Given the description of an element on the screen output the (x, y) to click on. 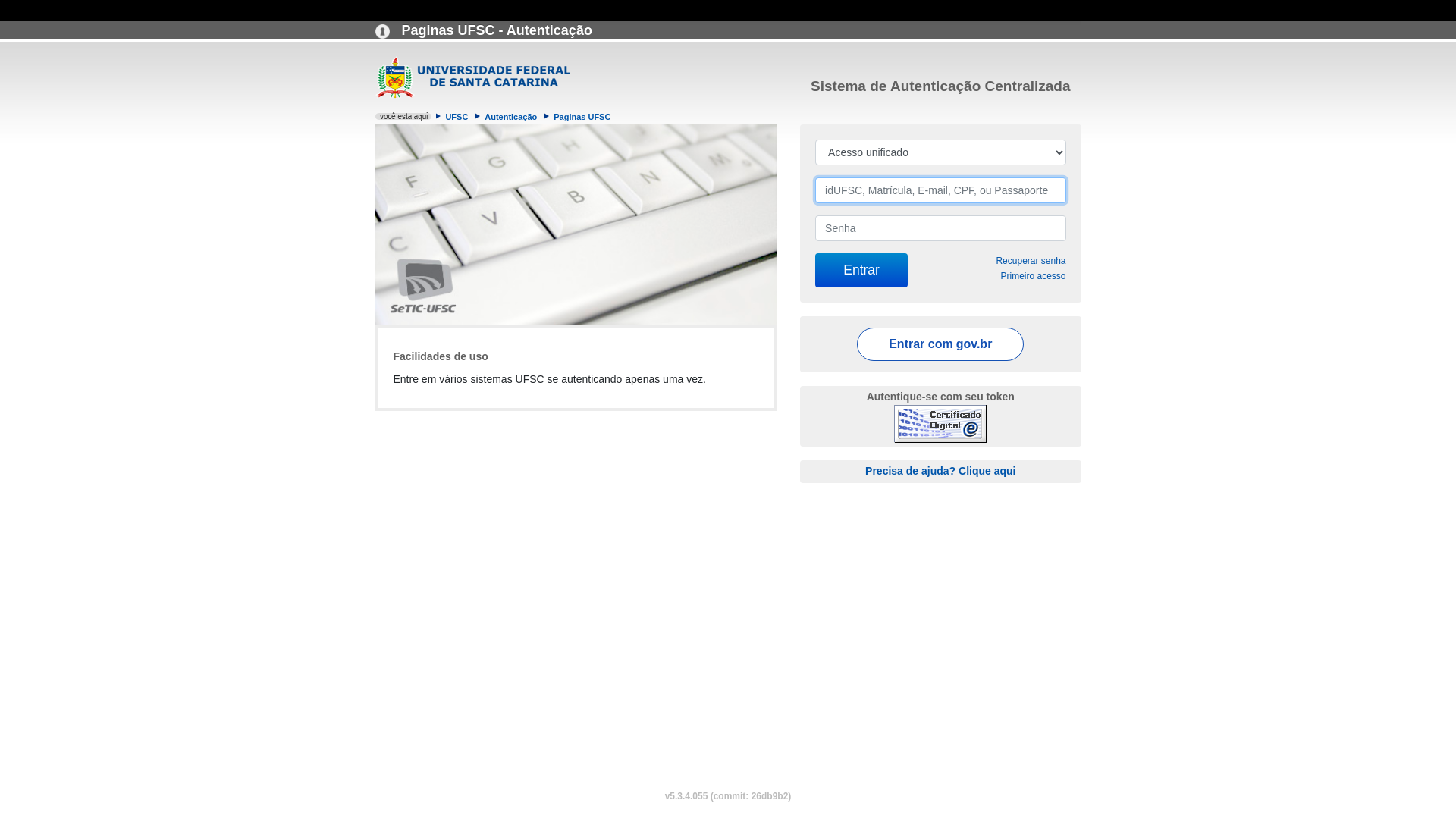
Precisa de ajuda? Clique aqui Element type: text (940, 470)
Paginas UFSC Element type: text (581, 116)
Entrar Element type: text (861, 270)
Primeiro acesso Element type: text (1032, 275)
Entrar com
gov.br Element type: text (939, 343)
Recuperar senha Element type: text (1030, 260)
UFSC Element type: text (456, 116)
